Given the description of an element on the screen output the (x, y) to click on. 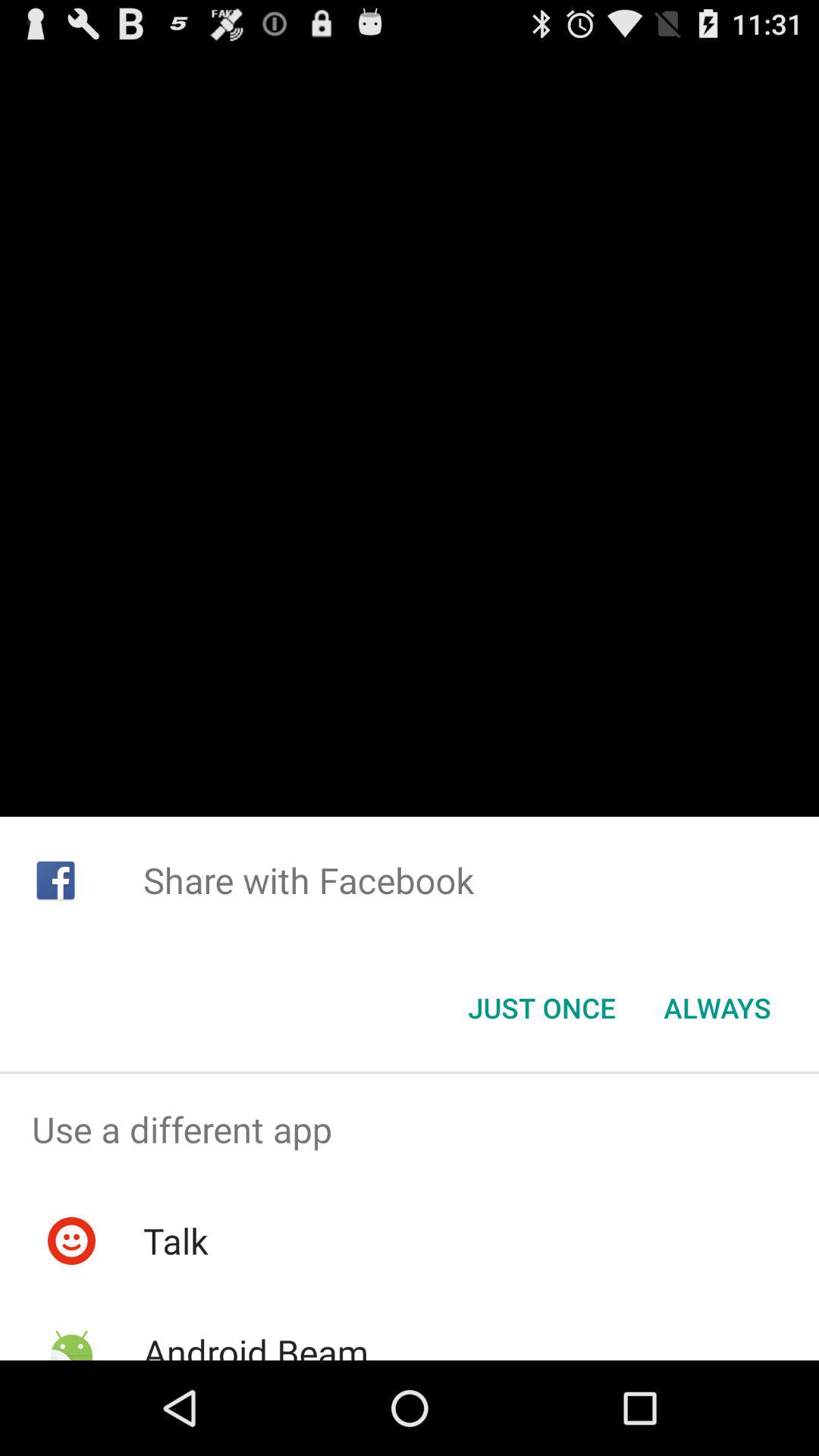
press item below the talk item (255, 1344)
